Given the description of an element on the screen output the (x, y) to click on. 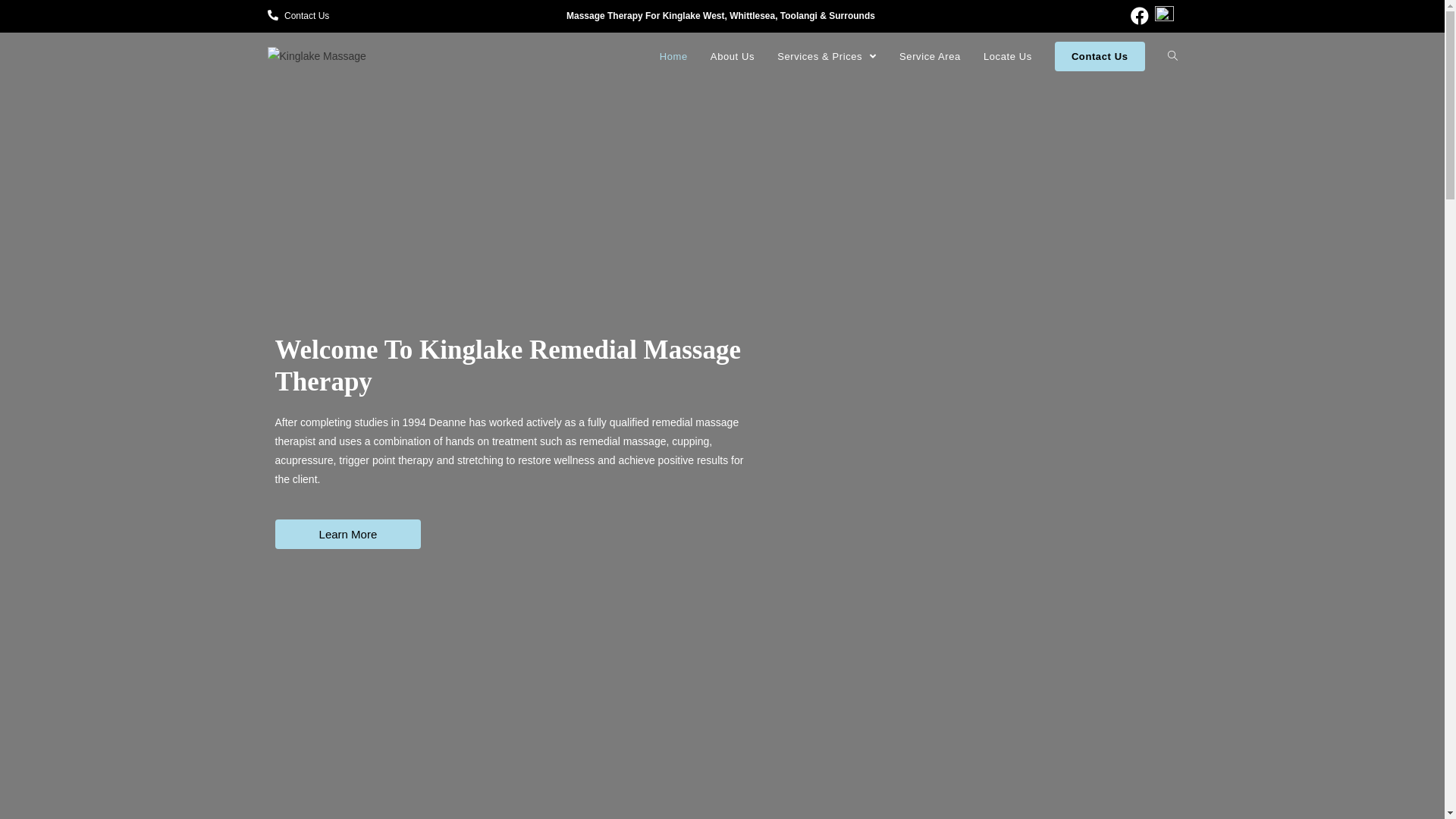
Service Area Element type: text (930, 56)
Learn More Element type: text (347, 534)
About Us Element type: text (732, 56)
Contact Us Element type: text (297, 16)
Home Element type: text (673, 56)
Services & Prices Element type: text (826, 56)
Contact Us Element type: text (1099, 56)
Locate Us Element type: text (1007, 56)
